Given the description of an element on the screen output the (x, y) to click on. 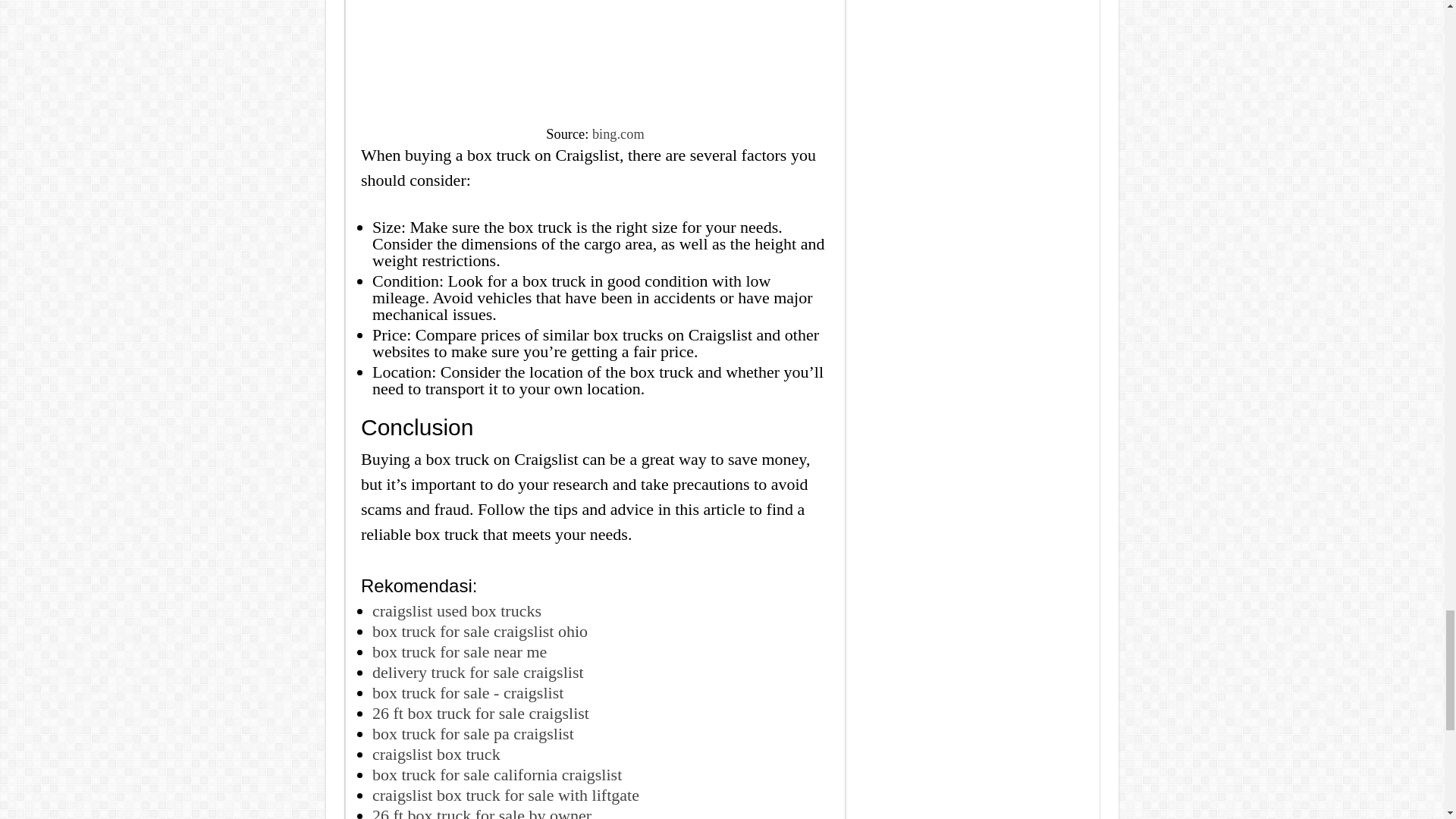
26 ft box truck for sale by owner (481, 812)
box truck for sale near me (459, 651)
26 ft box truck for sale craigslist (480, 712)
delivery truck for sale craigslist (477, 671)
box truck for sale california craigslist (496, 773)
craigslist used box trucks (456, 610)
box truck for sale pa craigslist (472, 732)
bing.com (618, 133)
box truck for sale - craigslist (467, 692)
box truck for sale craigslist ohio (480, 630)
